Given the description of an element on the screen output the (x, y) to click on. 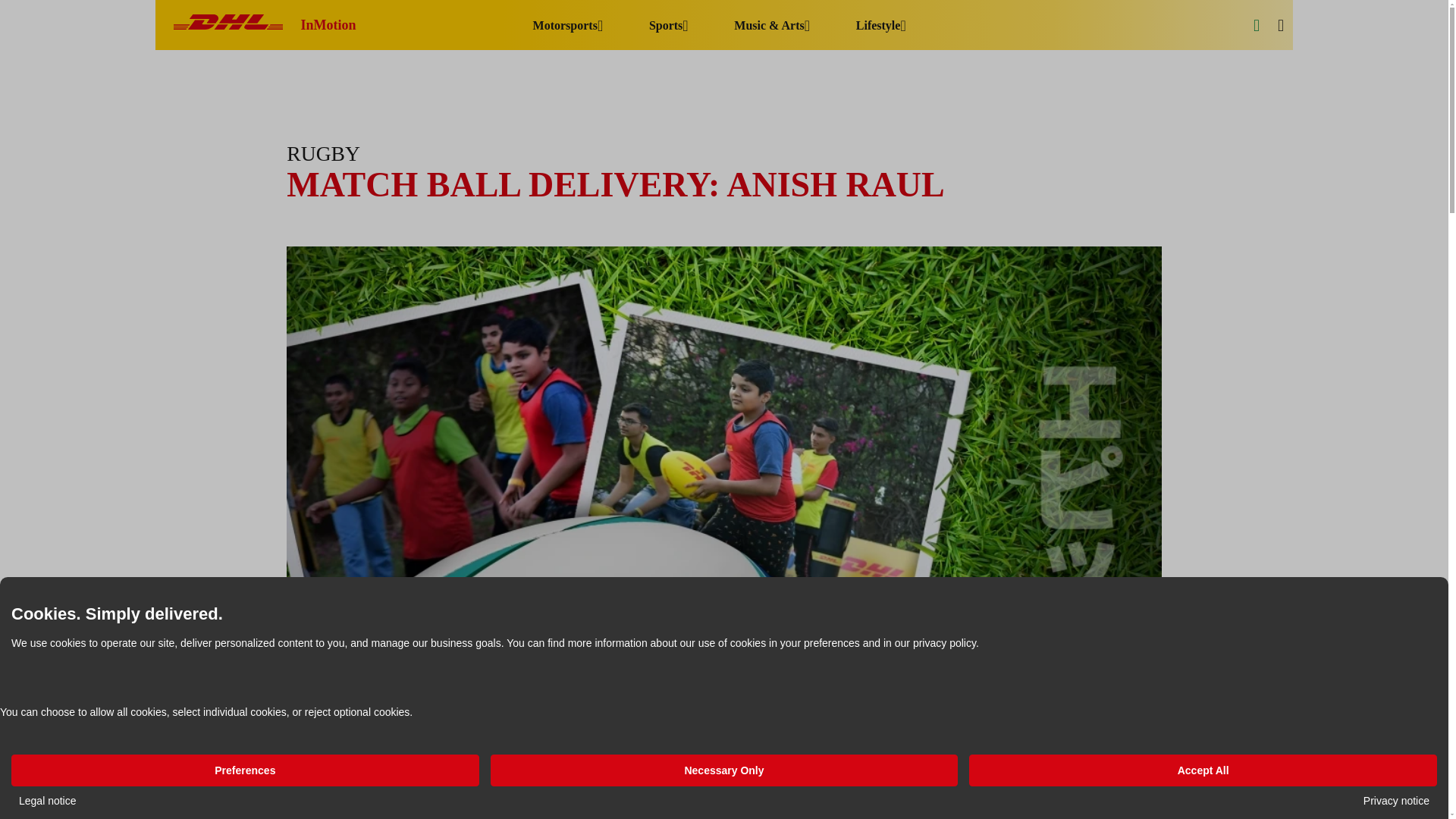
DHL InMotion (264, 25)
InMotion (264, 25)
